Given the description of an element on the screen output the (x, y) to click on. 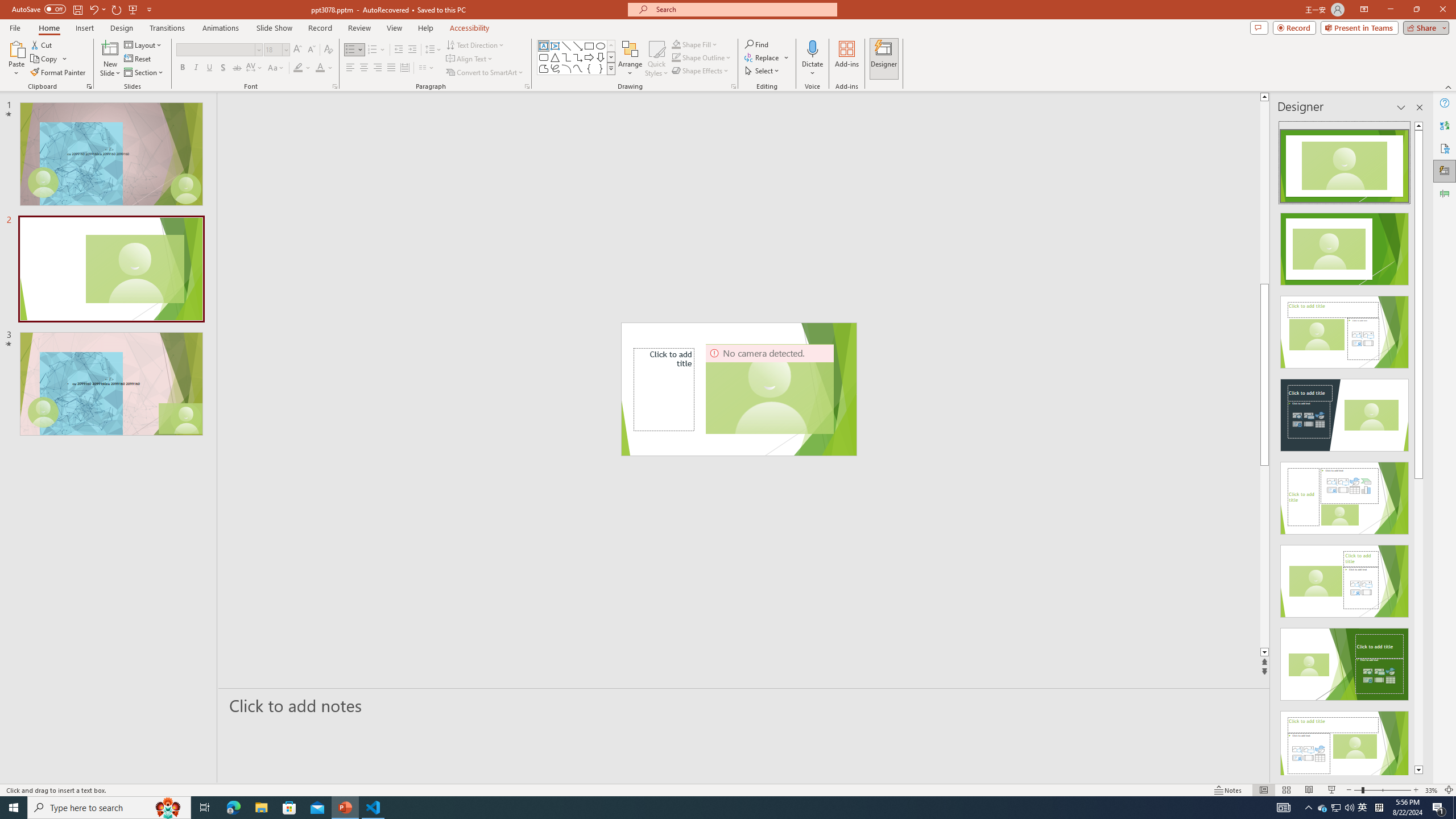
Camera 3, No camera detected. (769, 388)
Shape Outline (701, 56)
